Given the description of an element on the screen output the (x, y) to click on. 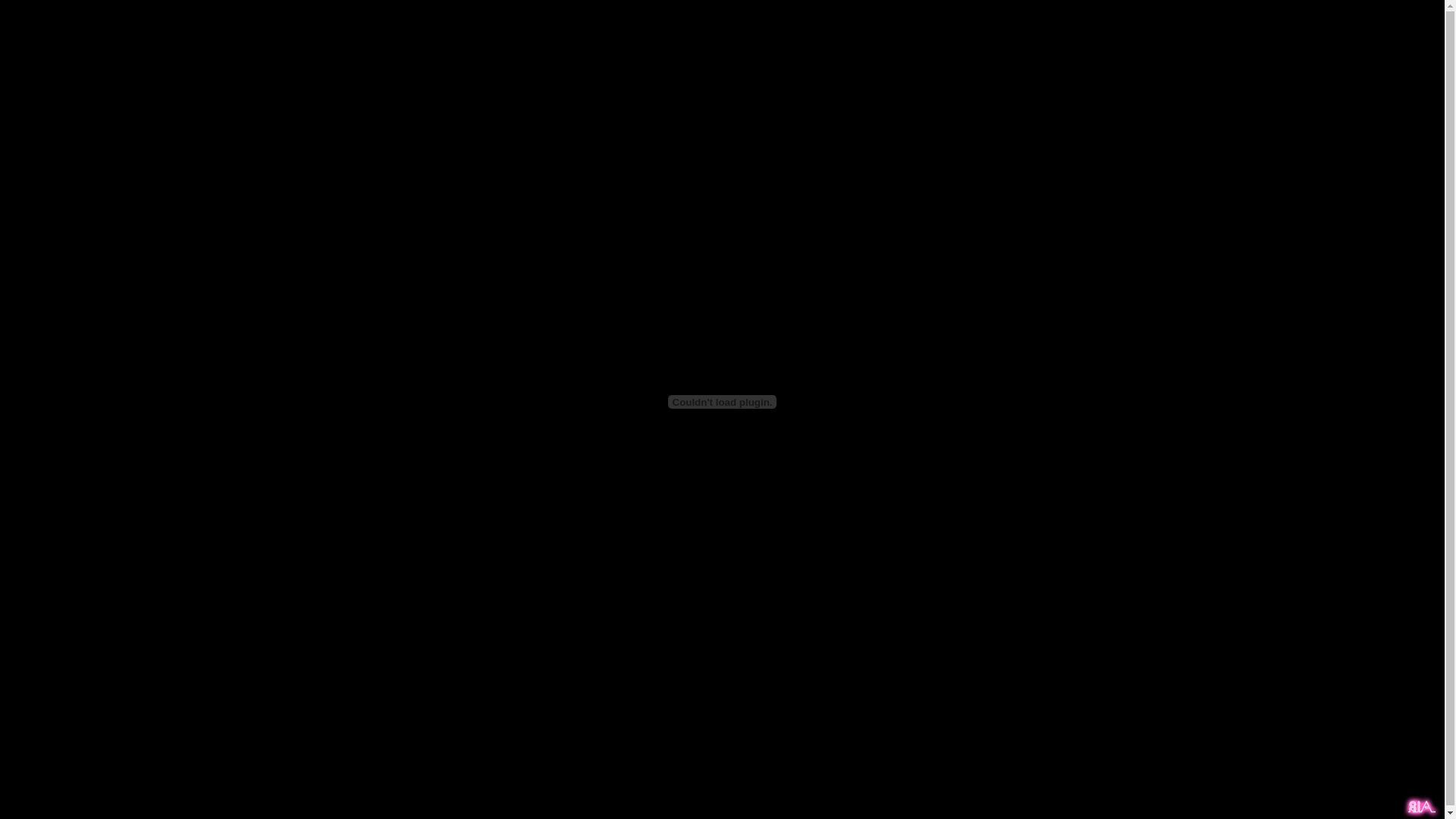
Adobe Flash Player Element type: hover (722, 401)
